Given the description of an element on the screen output the (x, y) to click on. 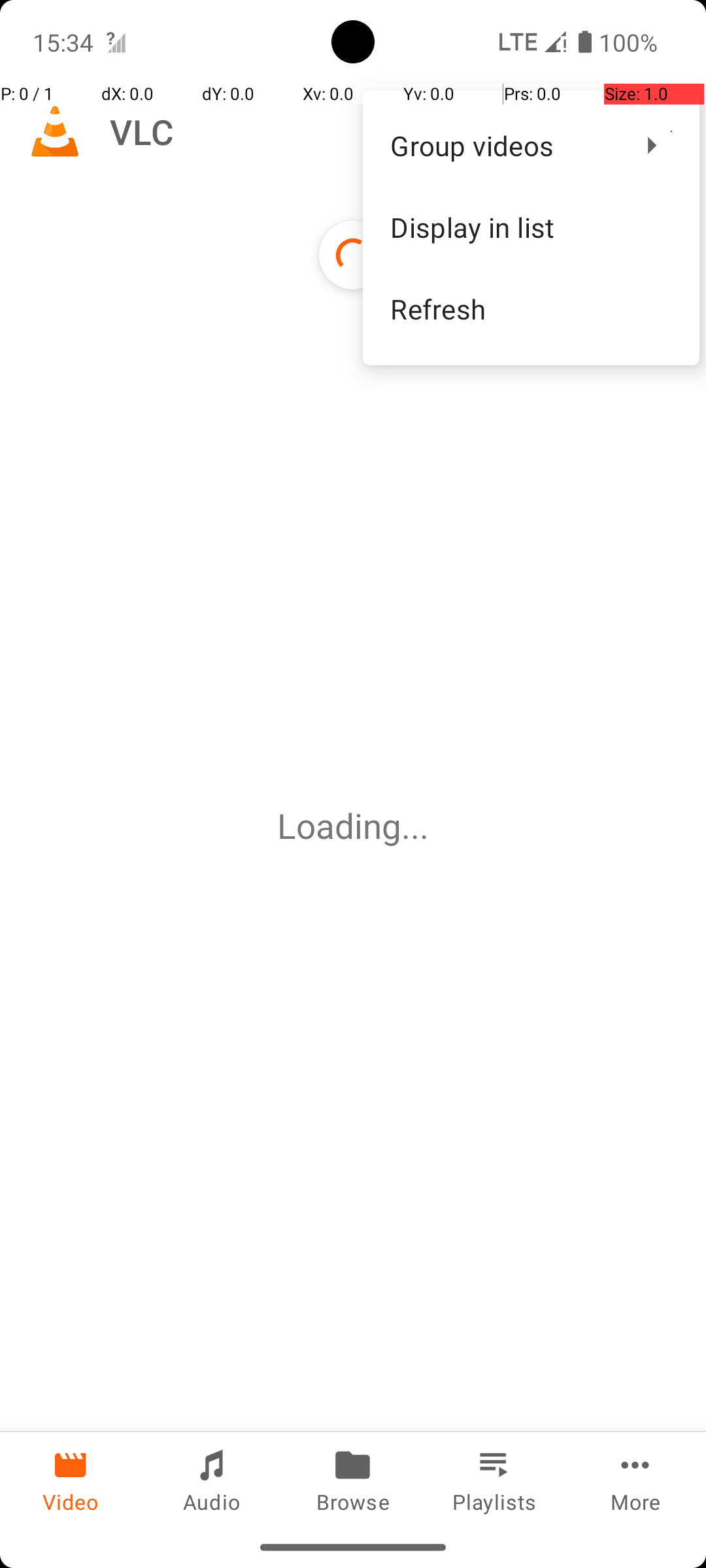
Group videos Element type: android.widget.TextView (503, 144)
